Given the description of an element on the screen output the (x, y) to click on. 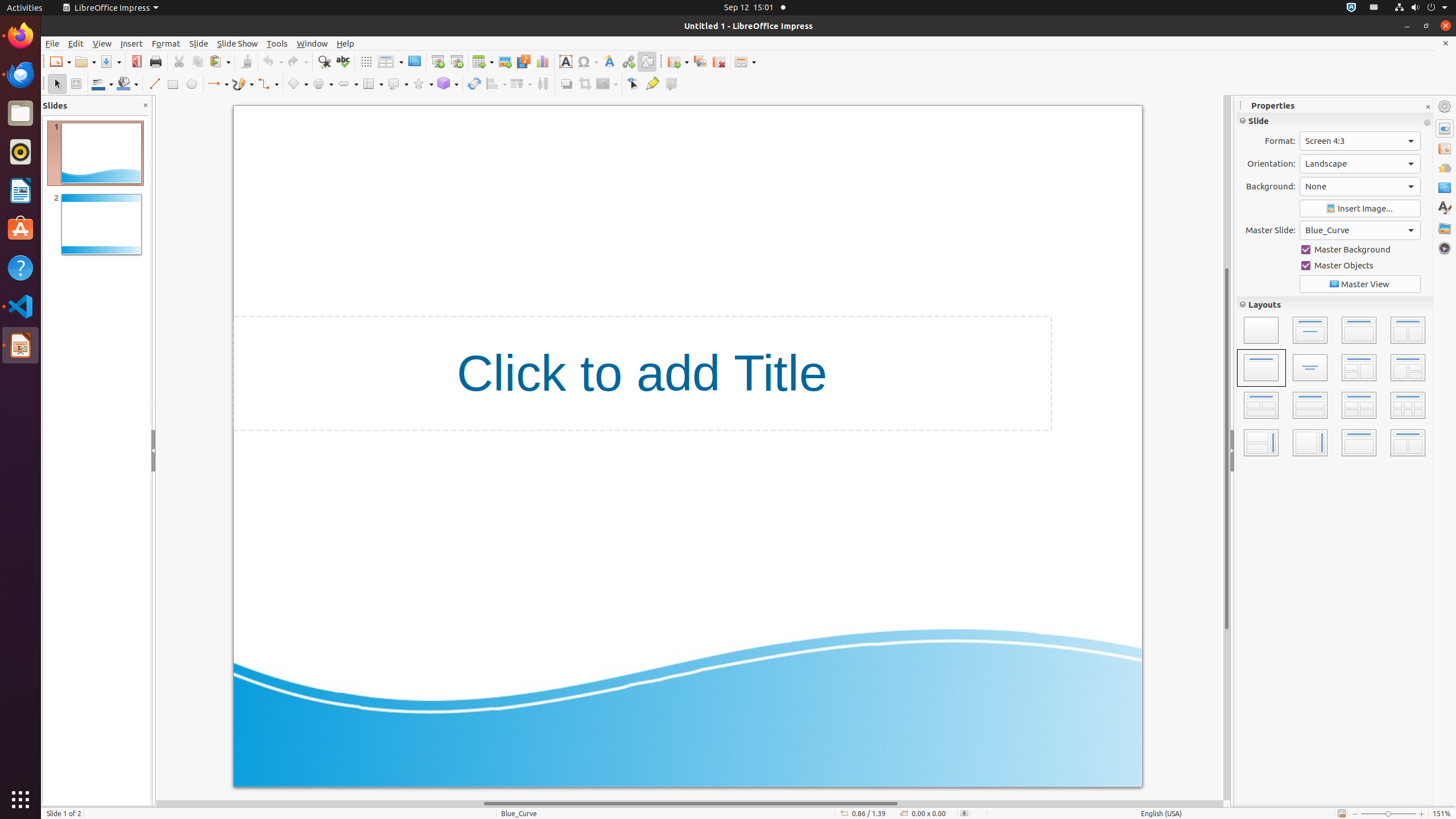
Font Name Element type: combo-box (1309, 140)
Clone Element type: push-button (245, 61)
Spelling Element type: push-button (342, 61)
Master Slide Element type: push-button (413, 61)
Shadow Element type: toggle-button (565, 83)
